Given the description of an element on the screen output the (x, y) to click on. 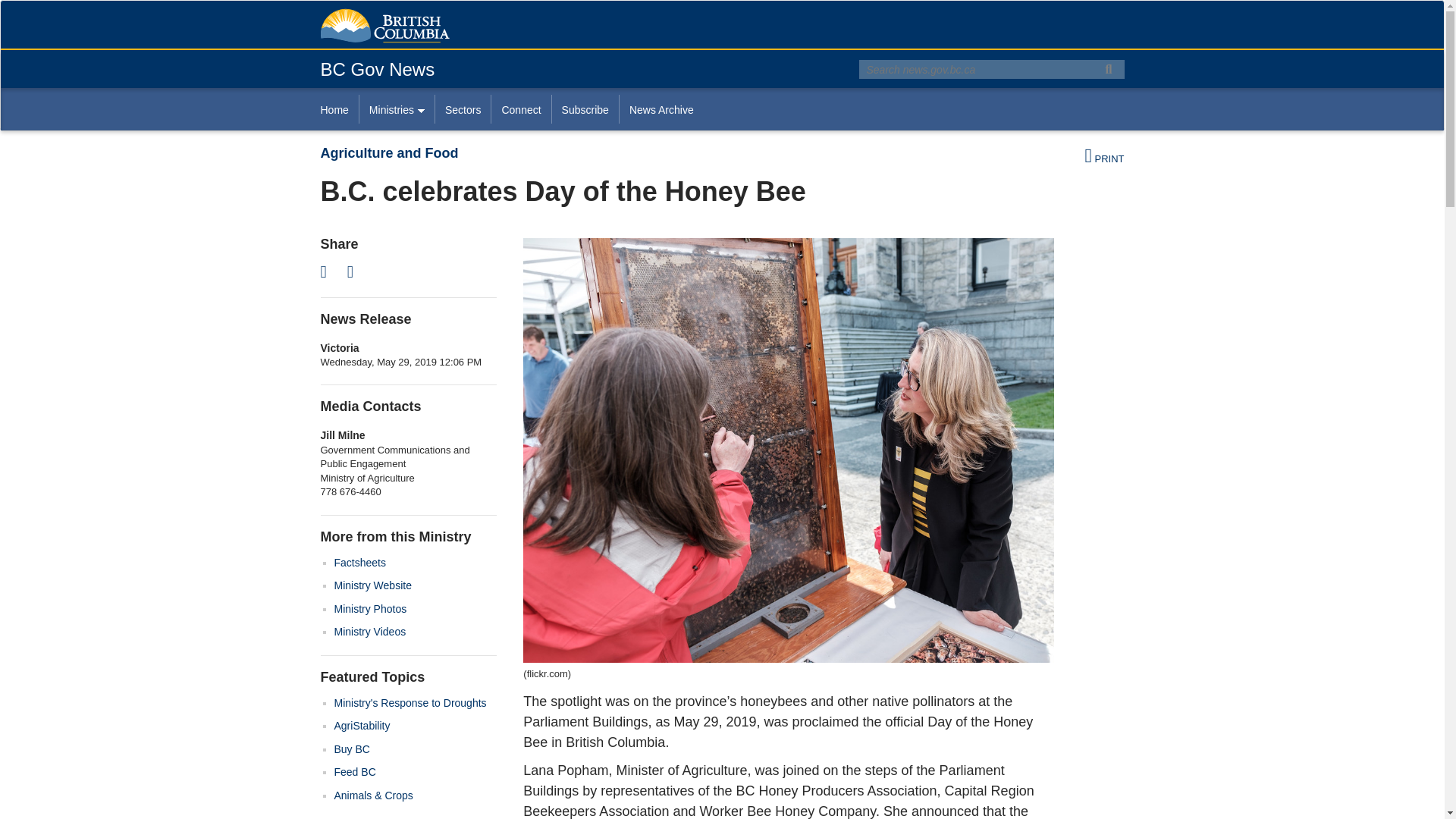
Ministries (395, 109)
Home (339, 109)
News Archive (660, 109)
BC Gov News (376, 68)
Sectors (461, 109)
Government of B.C. (384, 25)
Connect (520, 109)
Subscribe (584, 109)
